Given the description of an element on the screen output the (x, y) to click on. 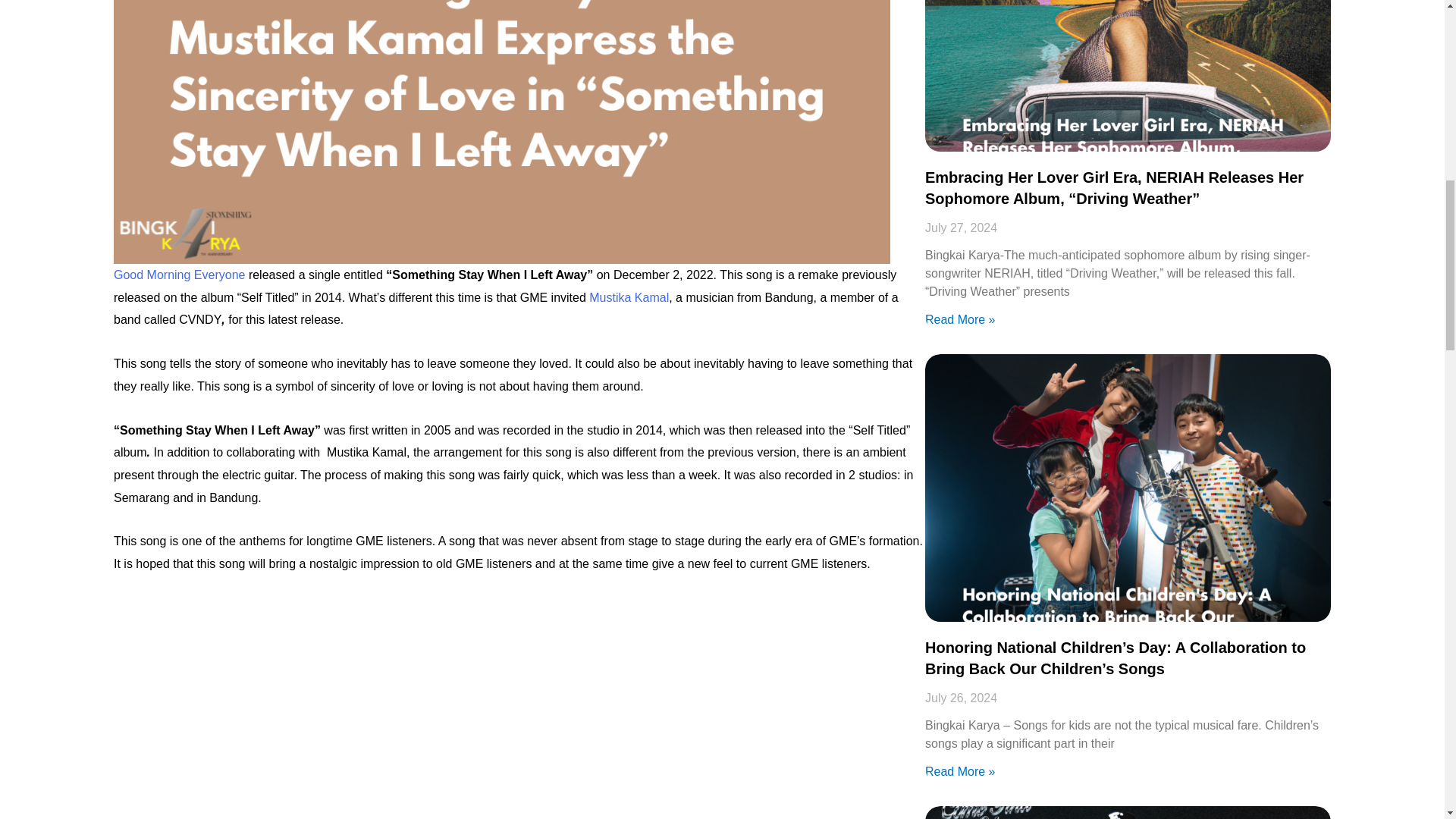
Good Morning Everyone (178, 274)
Mustika Kamal (628, 297)
